Given the description of an element on the screen output the (x, y) to click on. 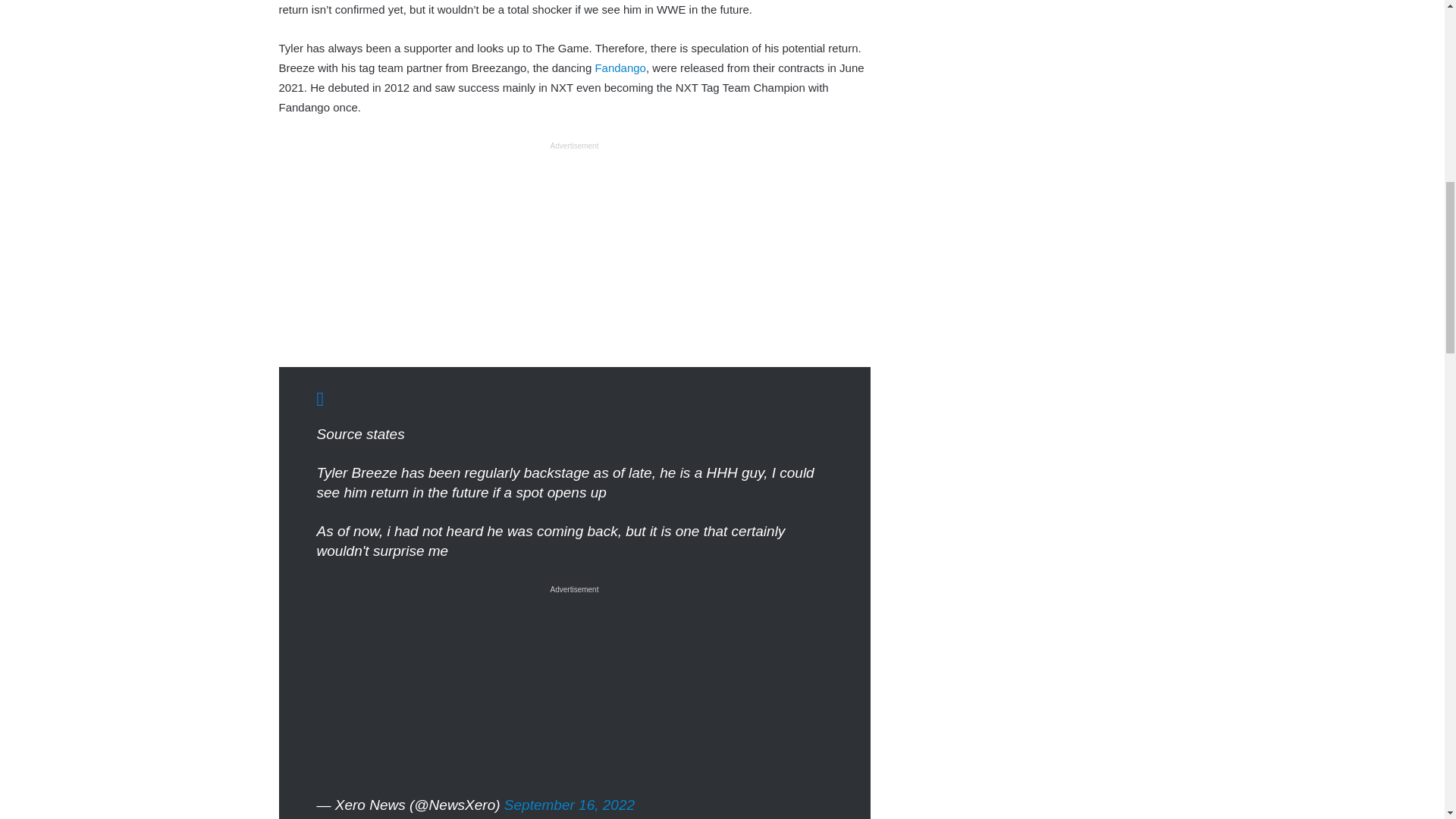
Fandango (620, 67)
September 16, 2022 (568, 804)
